Given the description of an element on the screen output the (x, y) to click on. 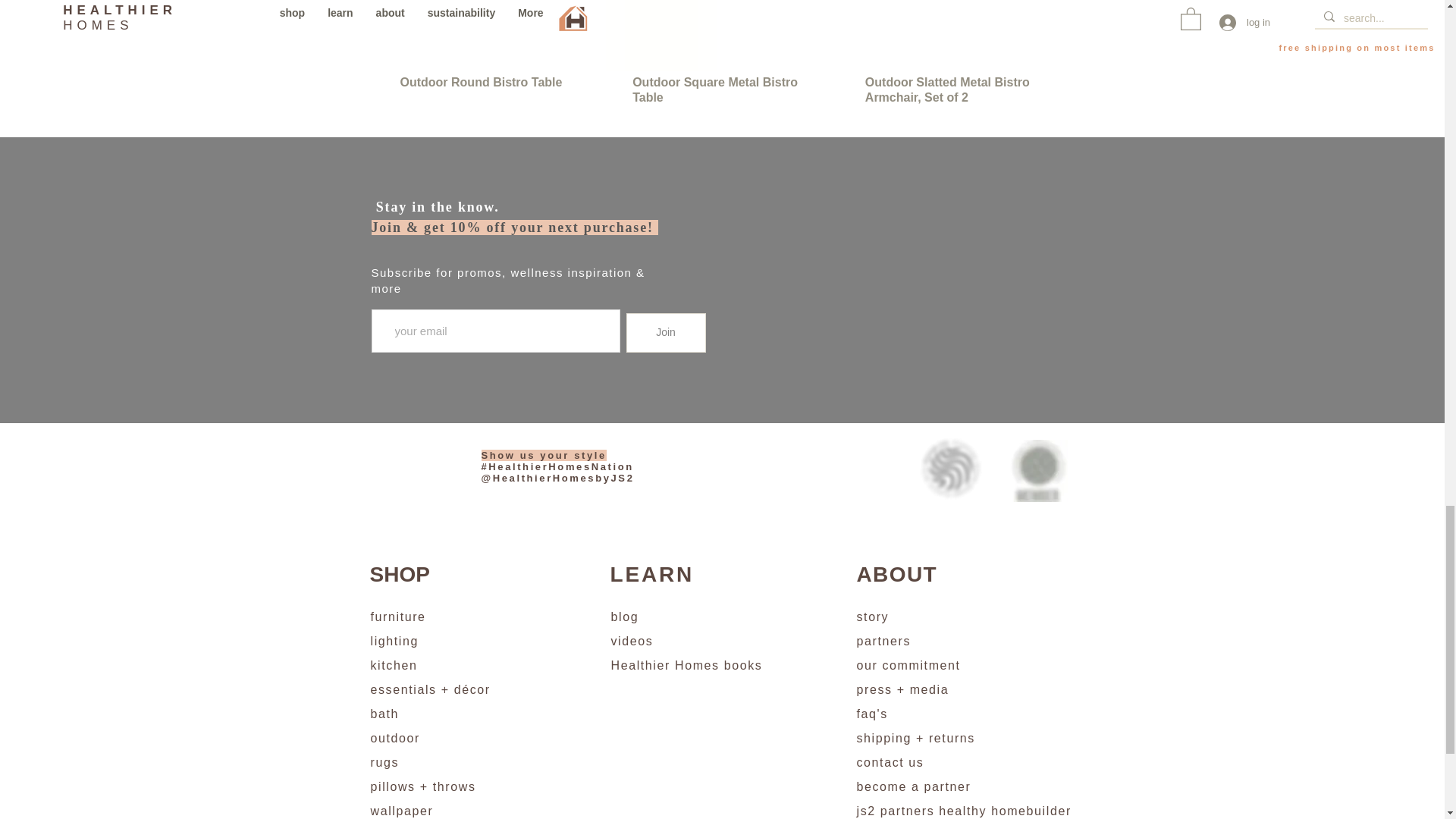
Outdoor Round Bistro Table (489, 90)
